Given the description of an element on the screen output the (x, y) to click on. 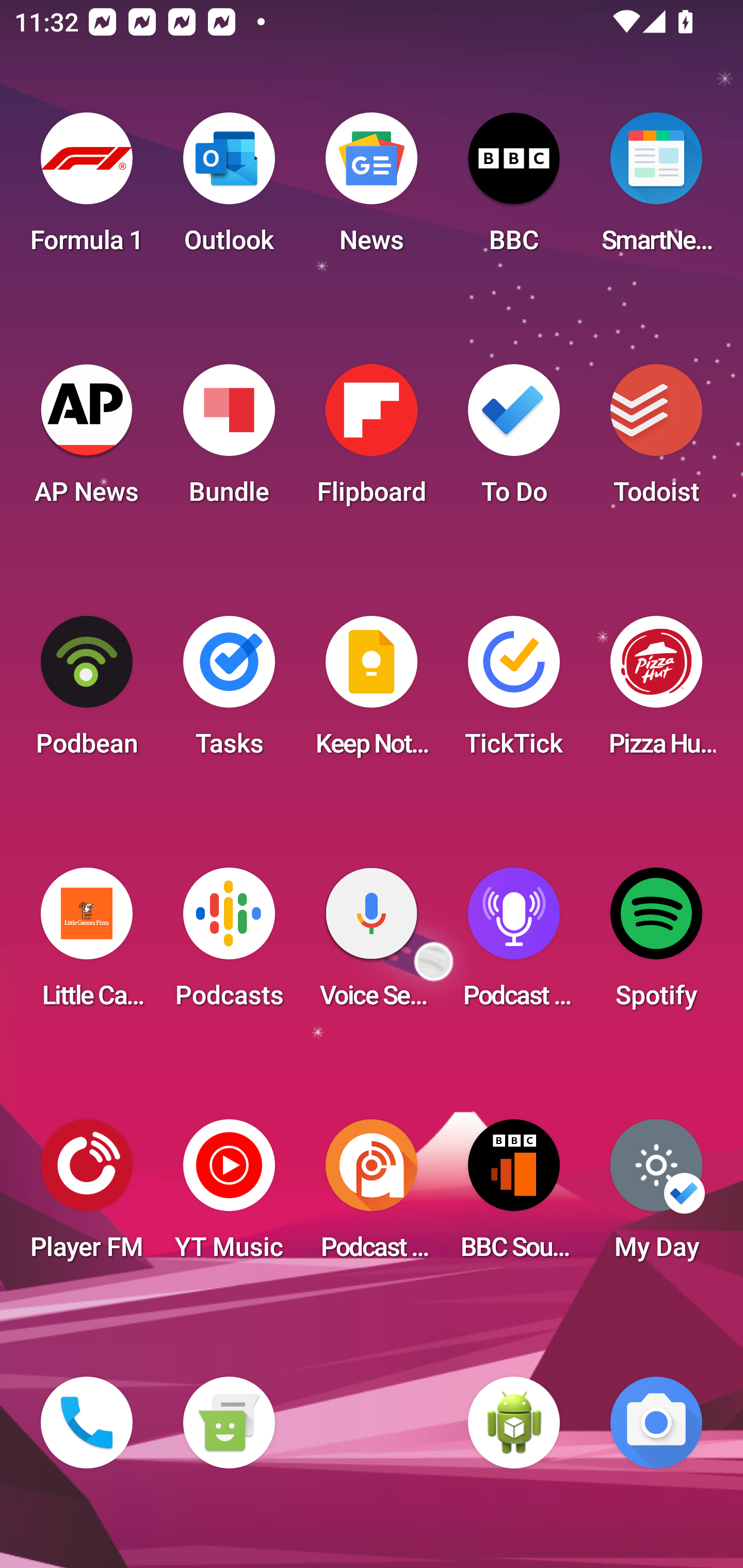
Formula 1 (86, 188)
Outlook (228, 188)
News (371, 188)
BBC (513, 188)
SmartNews (656, 188)
AP News (86, 440)
Bundle (228, 440)
Flipboard (371, 440)
To Do (513, 440)
Todoist (656, 440)
Podbean (86, 692)
Tasks (228, 692)
Keep Notes (371, 692)
TickTick (513, 692)
Pizza Hut HK & Macau (656, 692)
Little Caesars Pizza (86, 943)
Podcasts (228, 943)
Voice Search (371, 943)
Podcast Player (513, 943)
Spotify (656, 943)
Player FM (86, 1195)
YT Music (228, 1195)
Podcast Addict (371, 1195)
BBC Sounds (513, 1195)
My Day (656, 1195)
Phone (86, 1422)
Messaging (228, 1422)
WebView Browser Tester (513, 1422)
Camera (656, 1422)
